Given the description of an element on the screen output the (x, y) to click on. 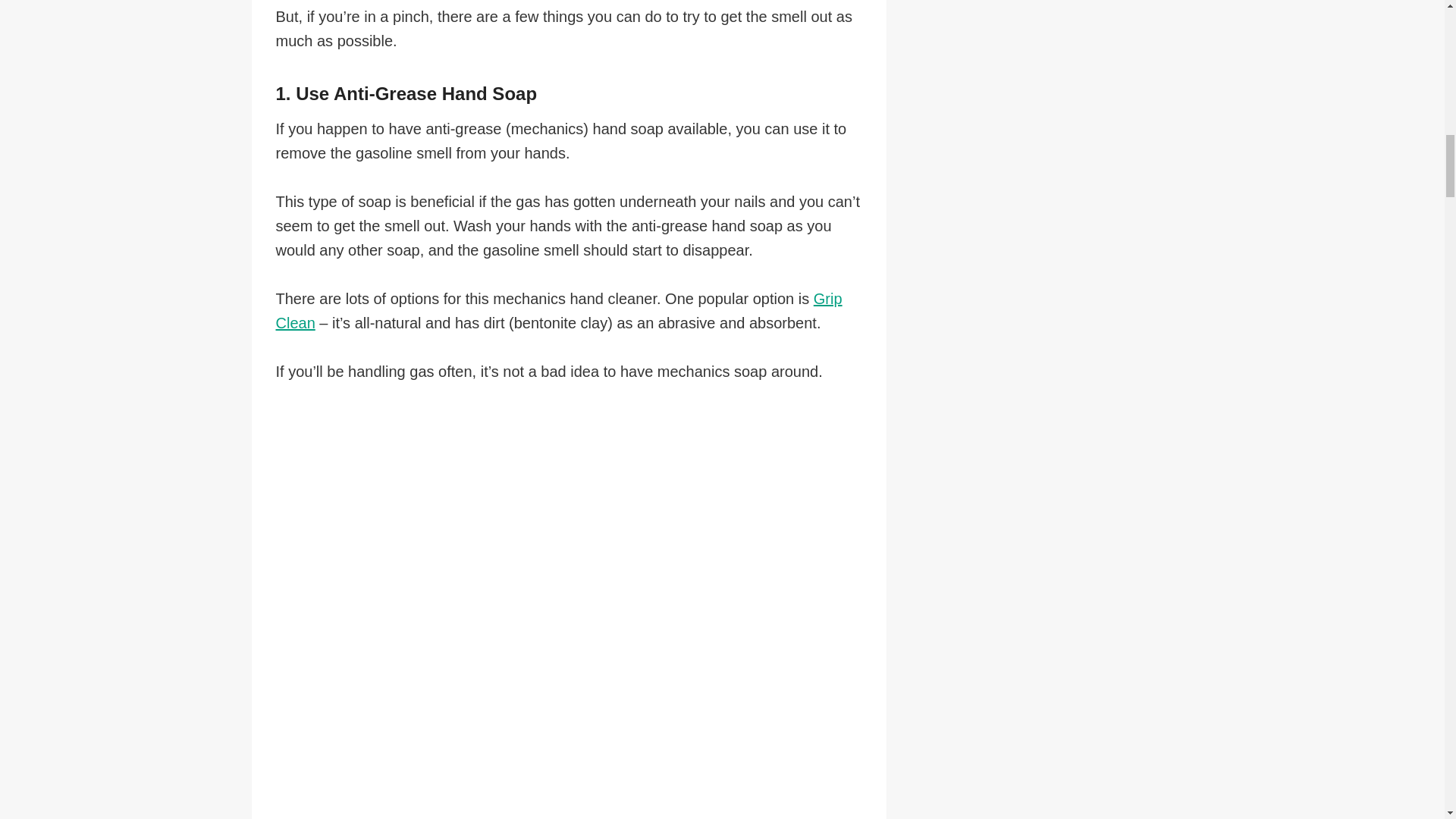
Grip Clean (559, 310)
